Given the description of an element on the screen output the (x, y) to click on. 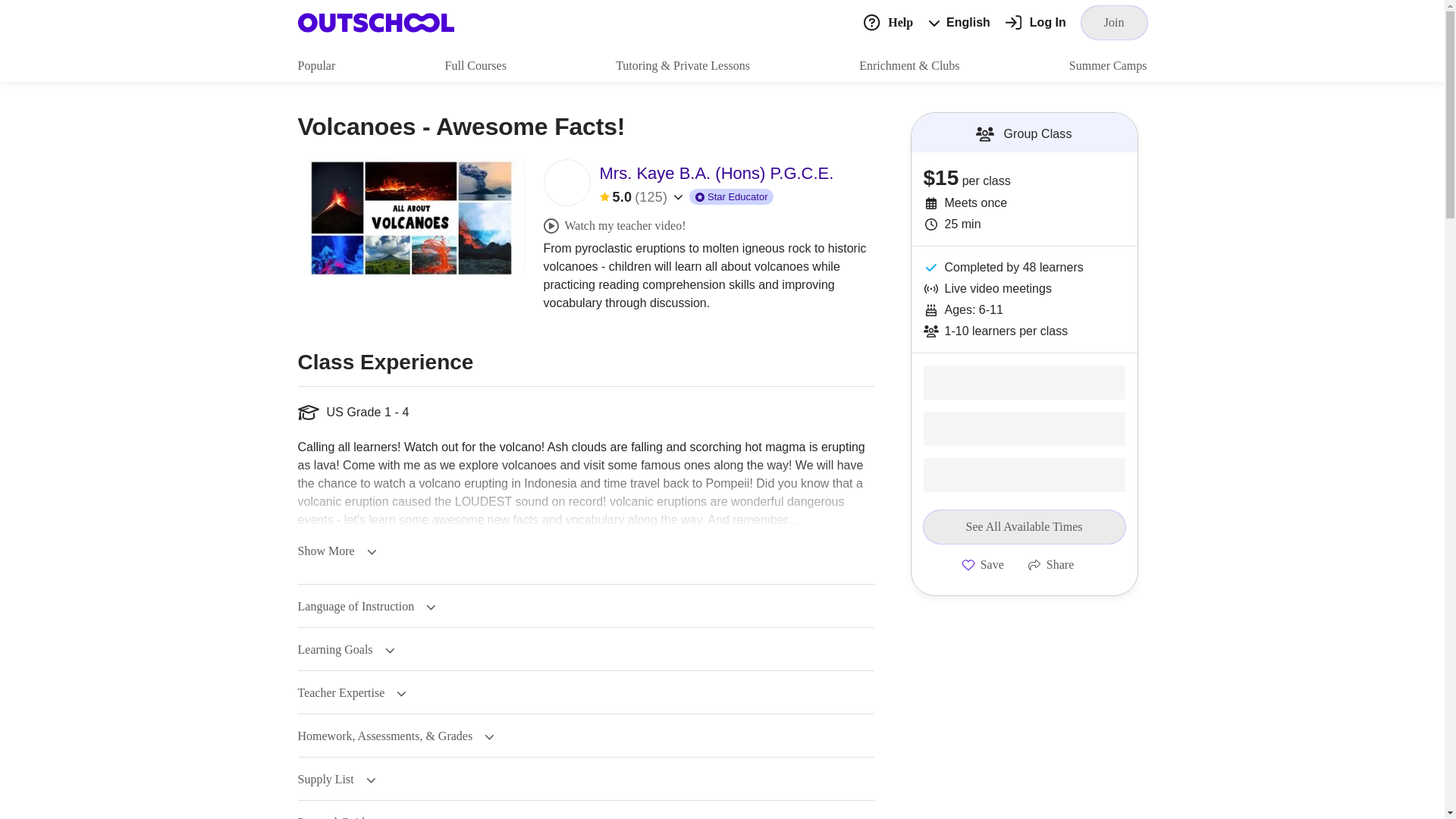
Language of Instruction (366, 606)
Popular (315, 65)
Log In (1035, 22)
Show More (336, 551)
Summer Camps (1107, 65)
Teacher Expertise (351, 693)
Supply List (336, 779)
Save (983, 565)
See All Available Times (1024, 526)
Join (1114, 22)
Share (1051, 565)
Full Courses (475, 65)
Help (887, 21)
Parental Guidance (353, 817)
Learning Goals (345, 649)
